Given the description of an element on the screen output the (x, y) to click on. 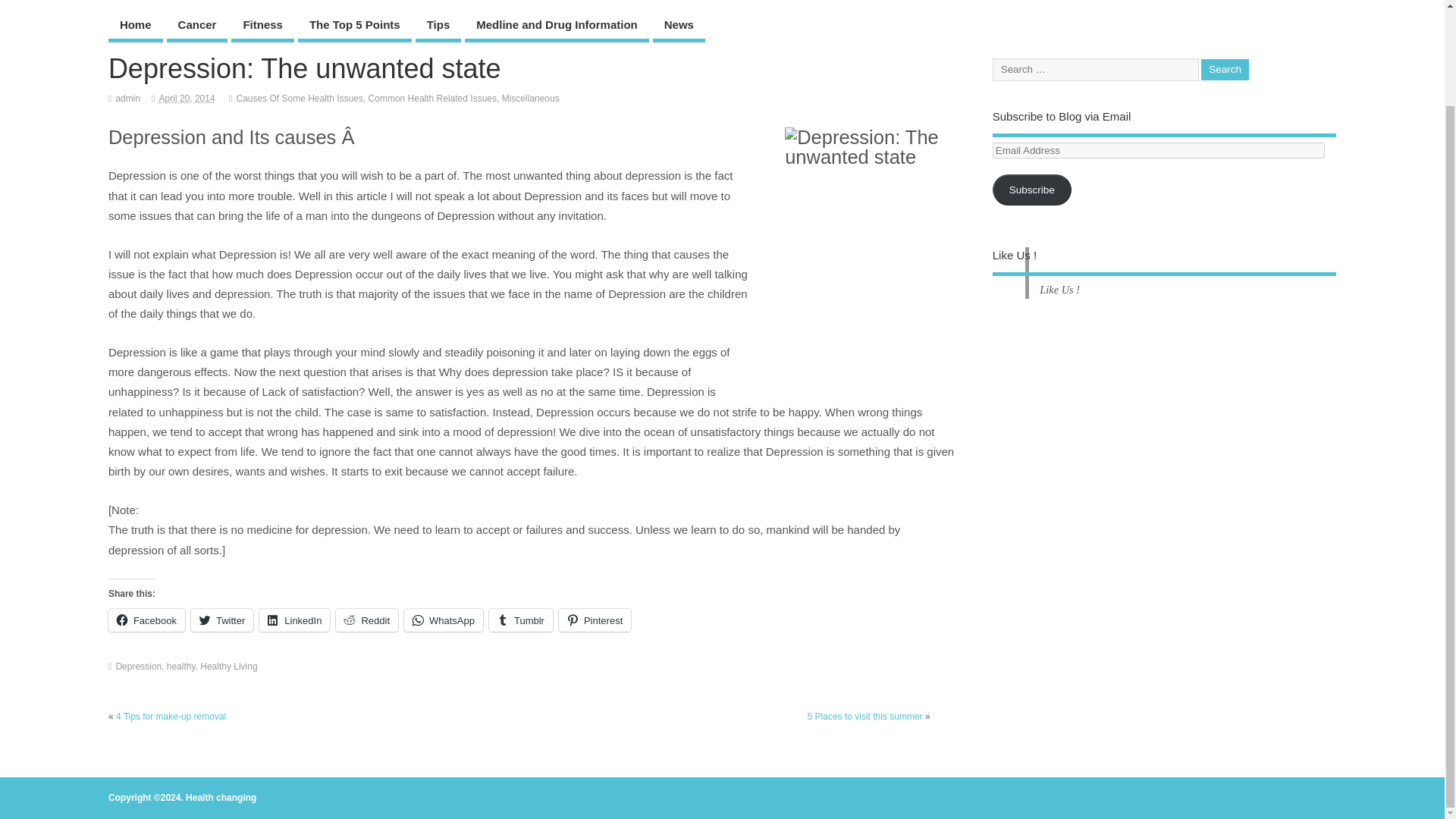
Cancer (197, 25)
Click to share on LinkedIn (294, 620)
Search (1225, 69)
Click to share on Facebook (145, 620)
Medline and Drug Information (556, 25)
Facebook (145, 620)
Home (135, 25)
Miscellaneous (530, 98)
Fitness (262, 25)
admin (127, 98)
LinkedIn (294, 620)
Causes Of Some Health Issues (298, 98)
Click to share on Tumblr (521, 620)
Click to share on Pinterest (594, 620)
Posts by admin (127, 98)
